Given the description of an element on the screen output the (x, y) to click on. 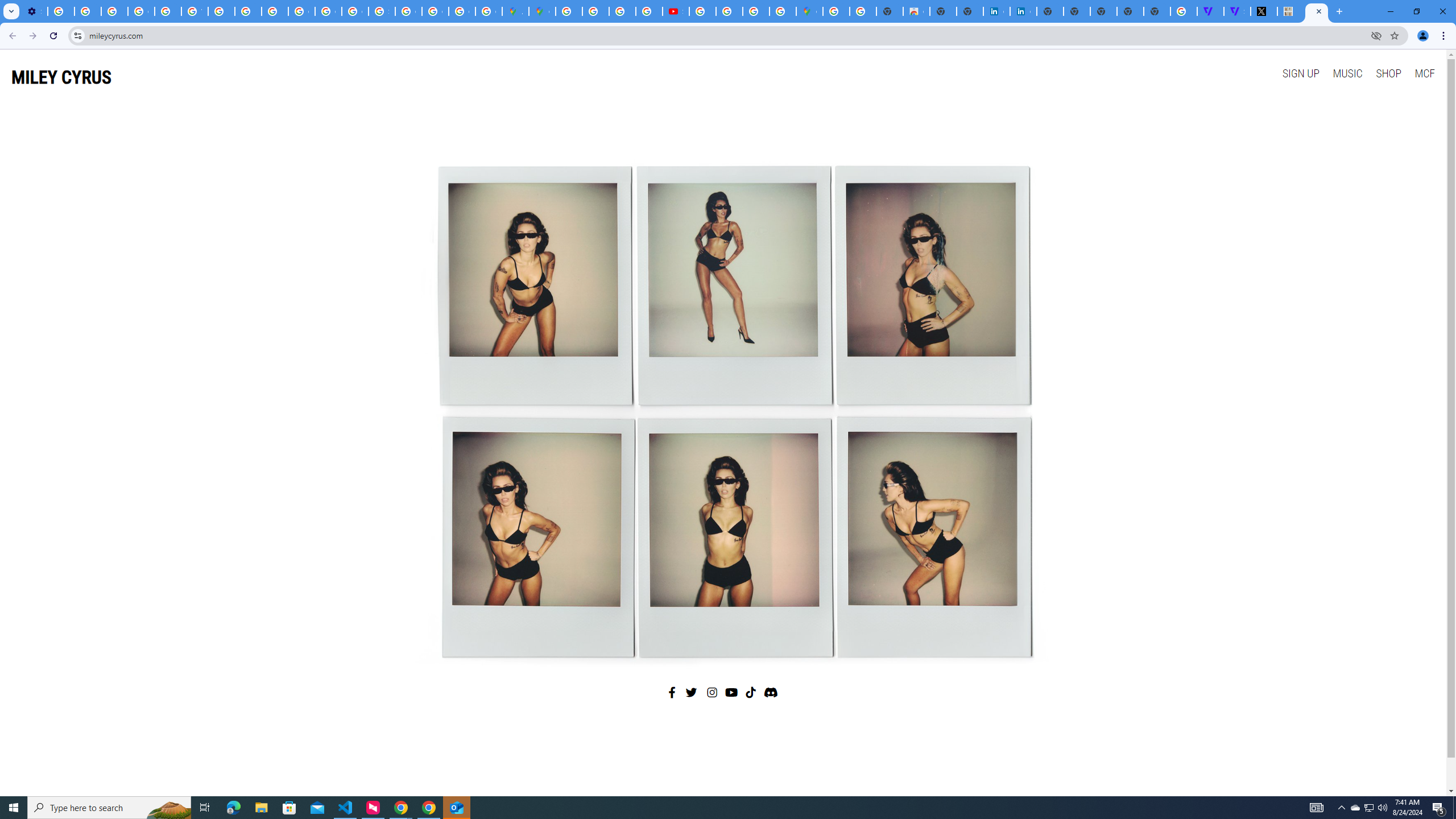
Facebook (671, 692)
MILEY CYRUS (61, 77)
YouTube (194, 11)
MILEY CYRUS. (1290, 11)
SIGN UP (1300, 73)
Privacy Help Center - Policies Help (248, 11)
Google Maps (542, 11)
Blogger Policies and Guidelines - Transparency Center (569, 11)
SHOP (1387, 73)
MILEY CYRUS. (1316, 11)
Instagram (712, 692)
